Given the description of an element on the screen output the (x, y) to click on. 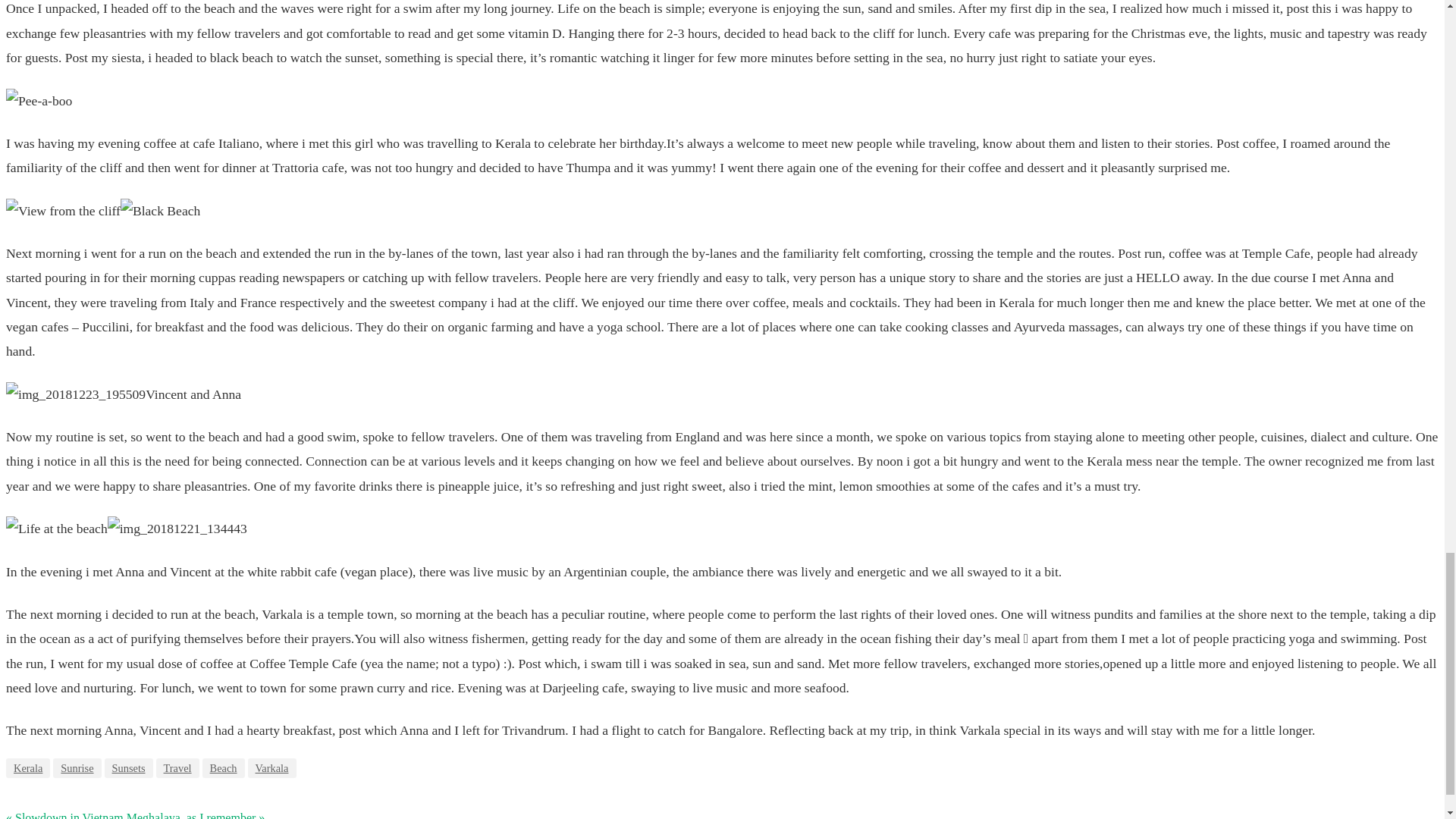
Beach (223, 768)
Vincent and Anna  (75, 394)
Travel (177, 768)
Sunsets (128, 768)
Kerala (27, 768)
Varkala (272, 768)
Sunrise (76, 768)
